Given the description of an element on the screen output the (x, y) to click on. 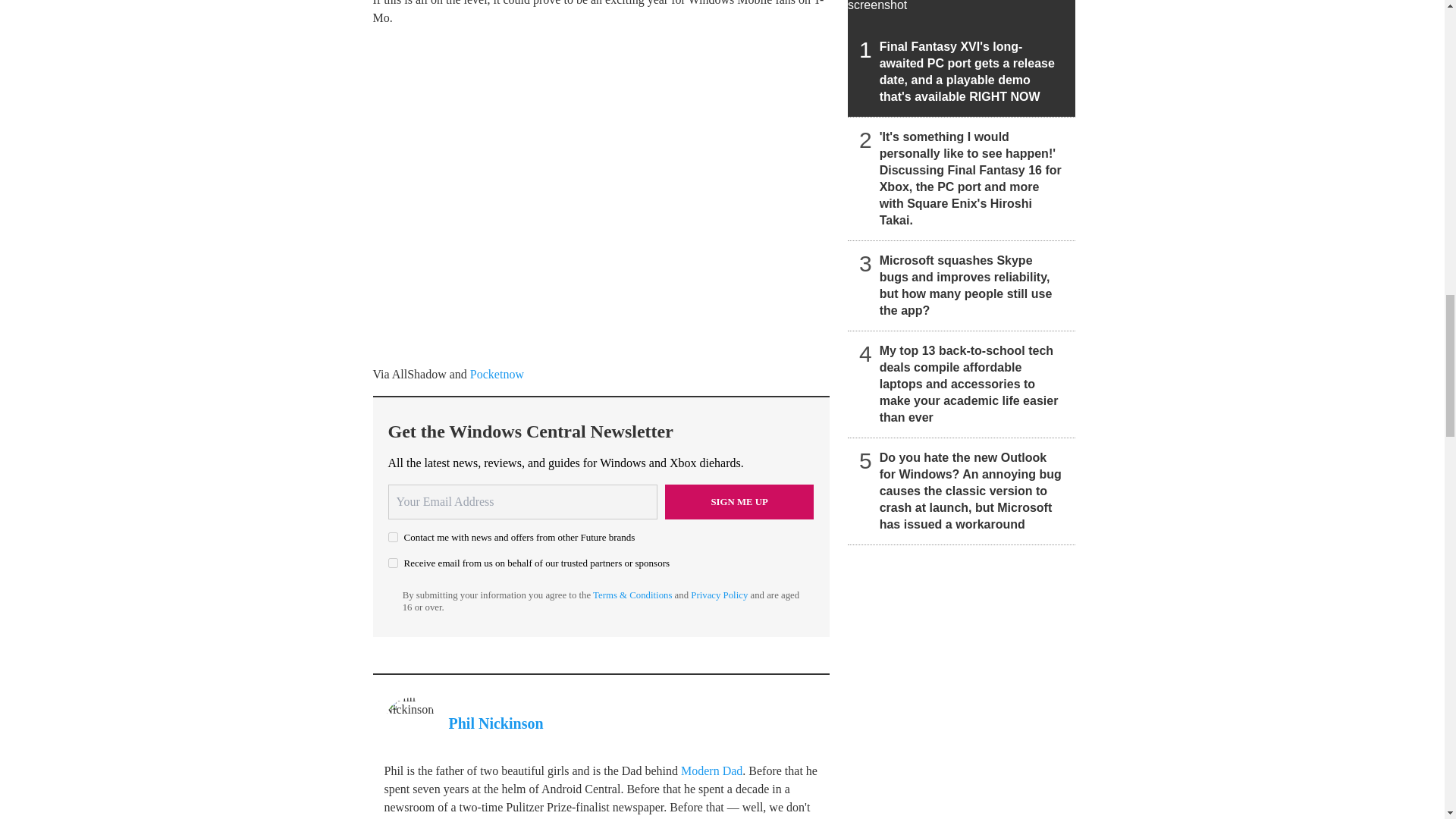
Privacy Policy (719, 594)
on (392, 562)
Pocketnow (497, 373)
Sign me up (739, 501)
Sign me up (739, 501)
Phil Nickinson (495, 723)
on (392, 537)
